Given the description of an element on the screen output the (x, y) to click on. 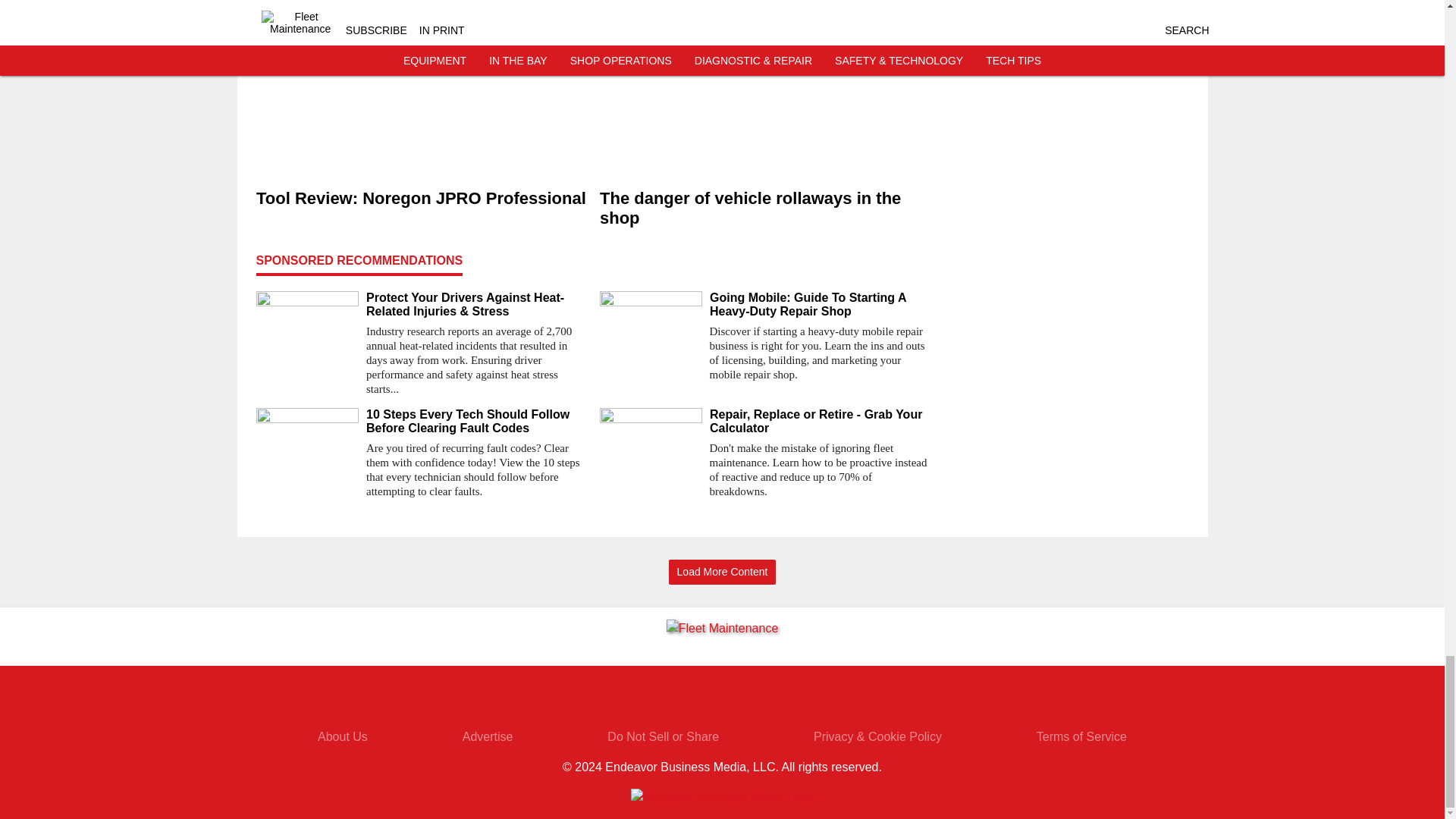
Going Mobile: Guide To Starting A Heavy-Duty Repair Shop (820, 304)
Tool Review: Noregon JPRO Professional (422, 198)
The danger of vehicle rollaways in the shop (764, 208)
Repair, Replace or Retire - Grab Your Calculator (820, 420)
